Given the description of an element on the screen output the (x, y) to click on. 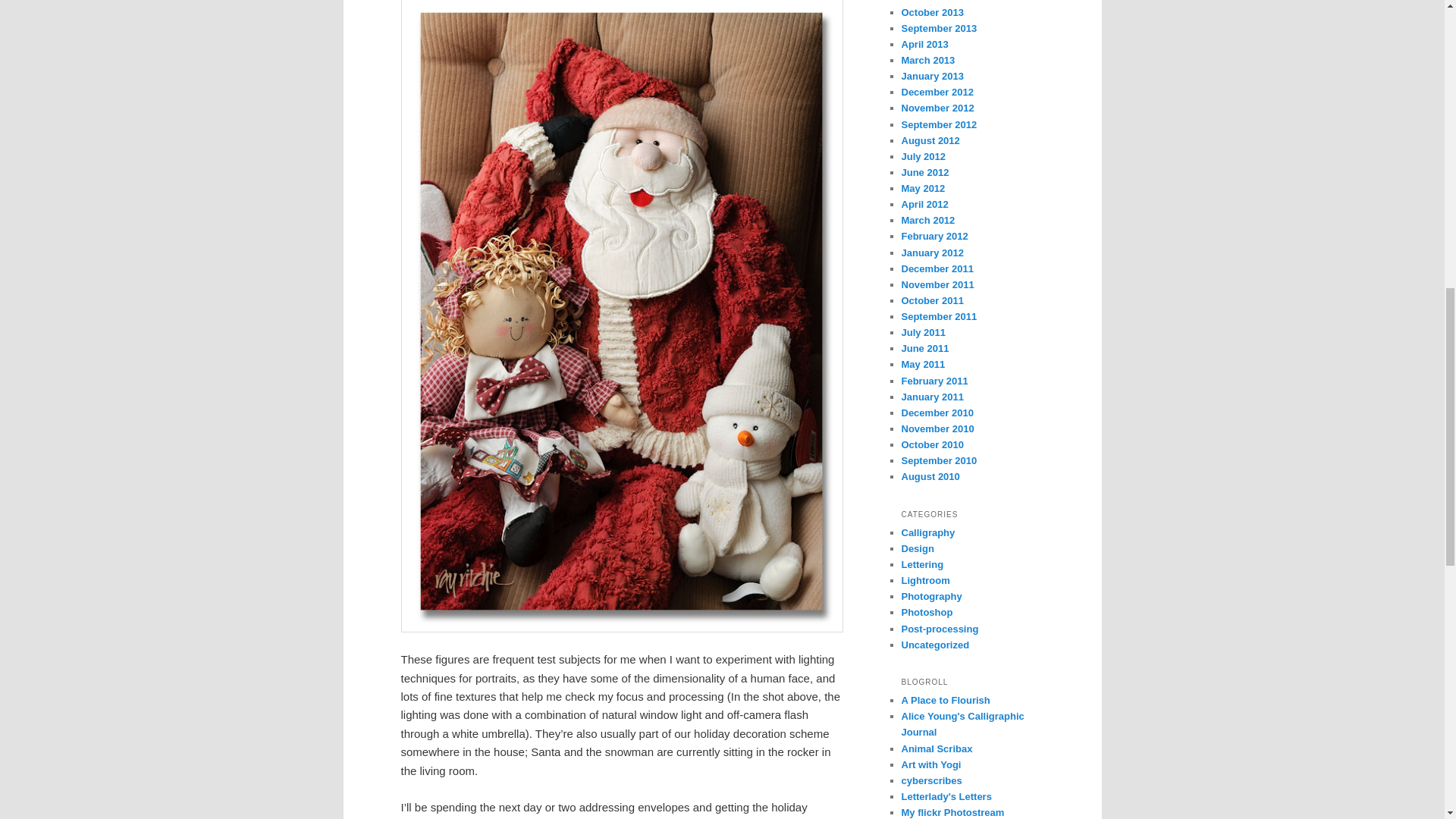
December 2013 (936, 1)
October 2013 (931, 12)
January 2013 (931, 75)
November 2012 (937, 107)
April 2013 (924, 43)
March 2013 (928, 60)
September 2013 (938, 28)
December 2013 (936, 1)
August 2012 (930, 140)
December 2012 (936, 91)
September 2012 (938, 124)
